Given the description of an element on the screen output the (x, y) to click on. 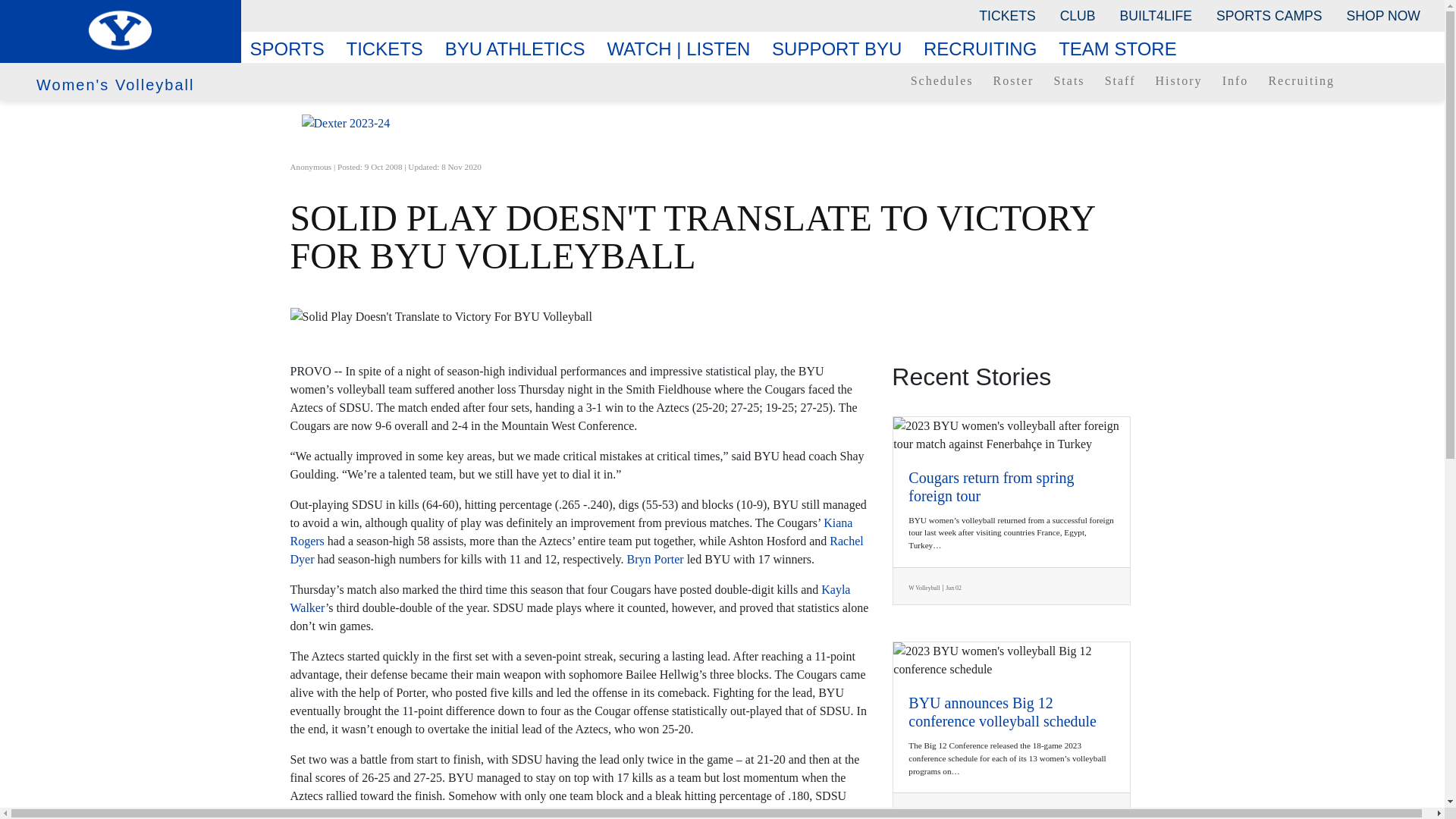
Solid Play Doesn't Translate to Victory For BYU Volleyball (721, 316)
CLUB (1078, 15)
BUILT4LIFE (1156, 15)
SPORTS (292, 49)
SHOP NOW (1383, 15)
TICKETS (1006, 15)
SPORTS CAMPS (1268, 15)
